Given the description of an element on the screen output the (x, y) to click on. 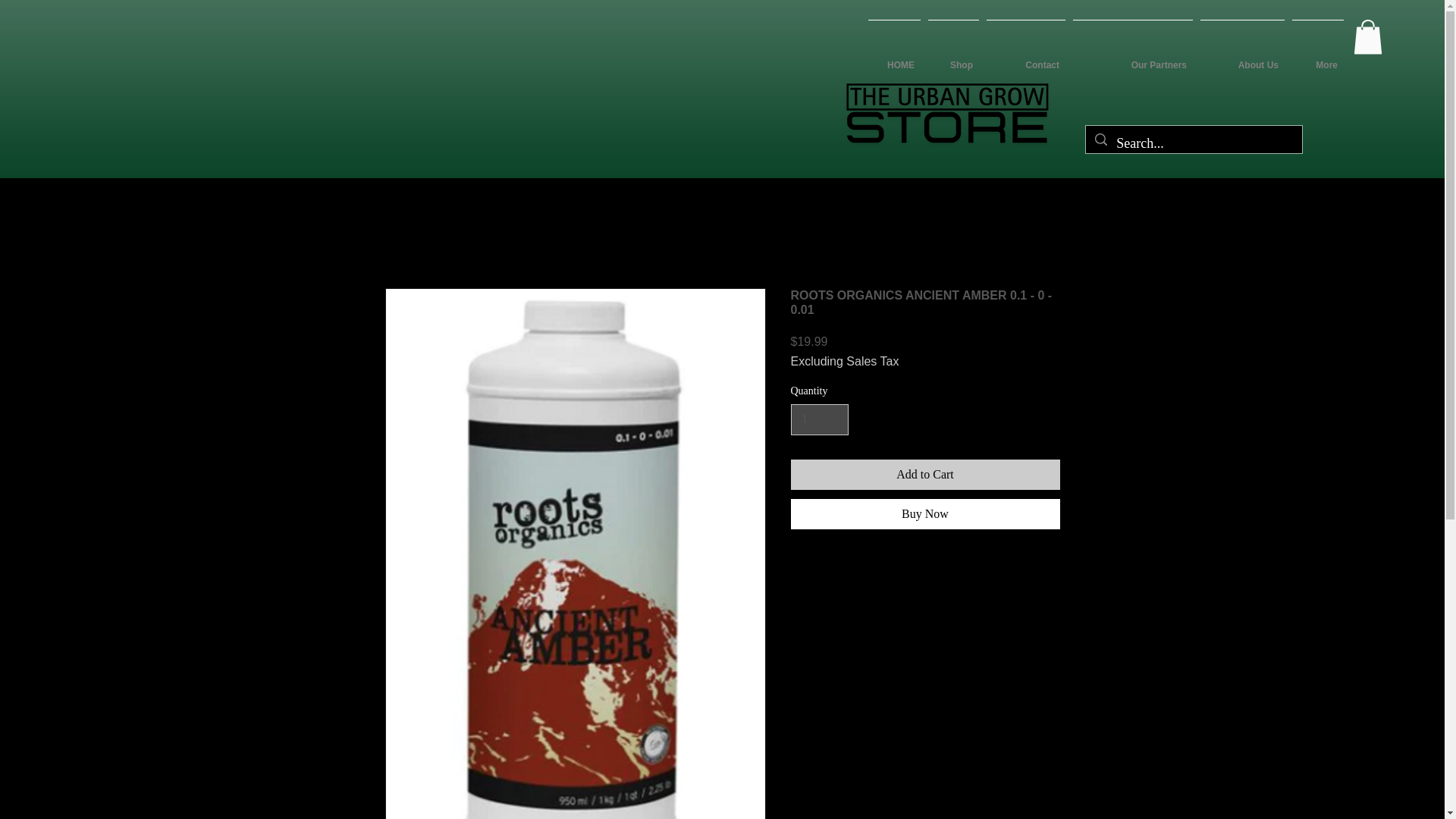
Buy Now (924, 513)
Our Partners (1132, 58)
Add to Cart (924, 474)
About Us (1242, 58)
Contact (1025, 58)
1 (818, 419)
